Given the description of an element on the screen output the (x, y) to click on. 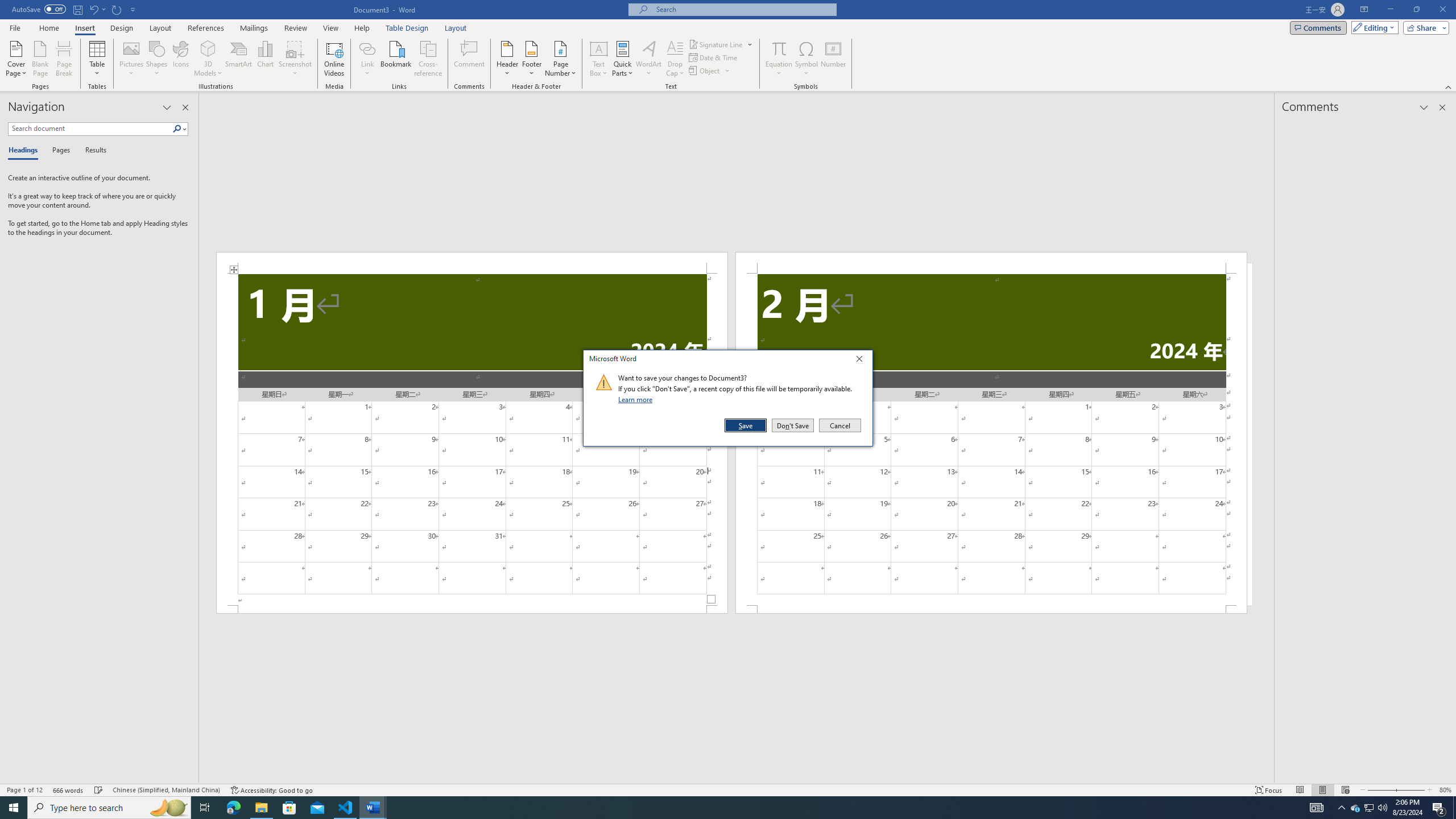
Signature Line (716, 44)
Page Number (560, 58)
File Explorer - 1 running window (261, 807)
Drop Cap (674, 58)
Footer -Section 1- (471, 609)
AutomationID: 4105 (1316, 807)
Cross-reference... (428, 58)
Spelling and Grammar Check Checking (98, 790)
